Given the description of an element on the screen output the (x, y) to click on. 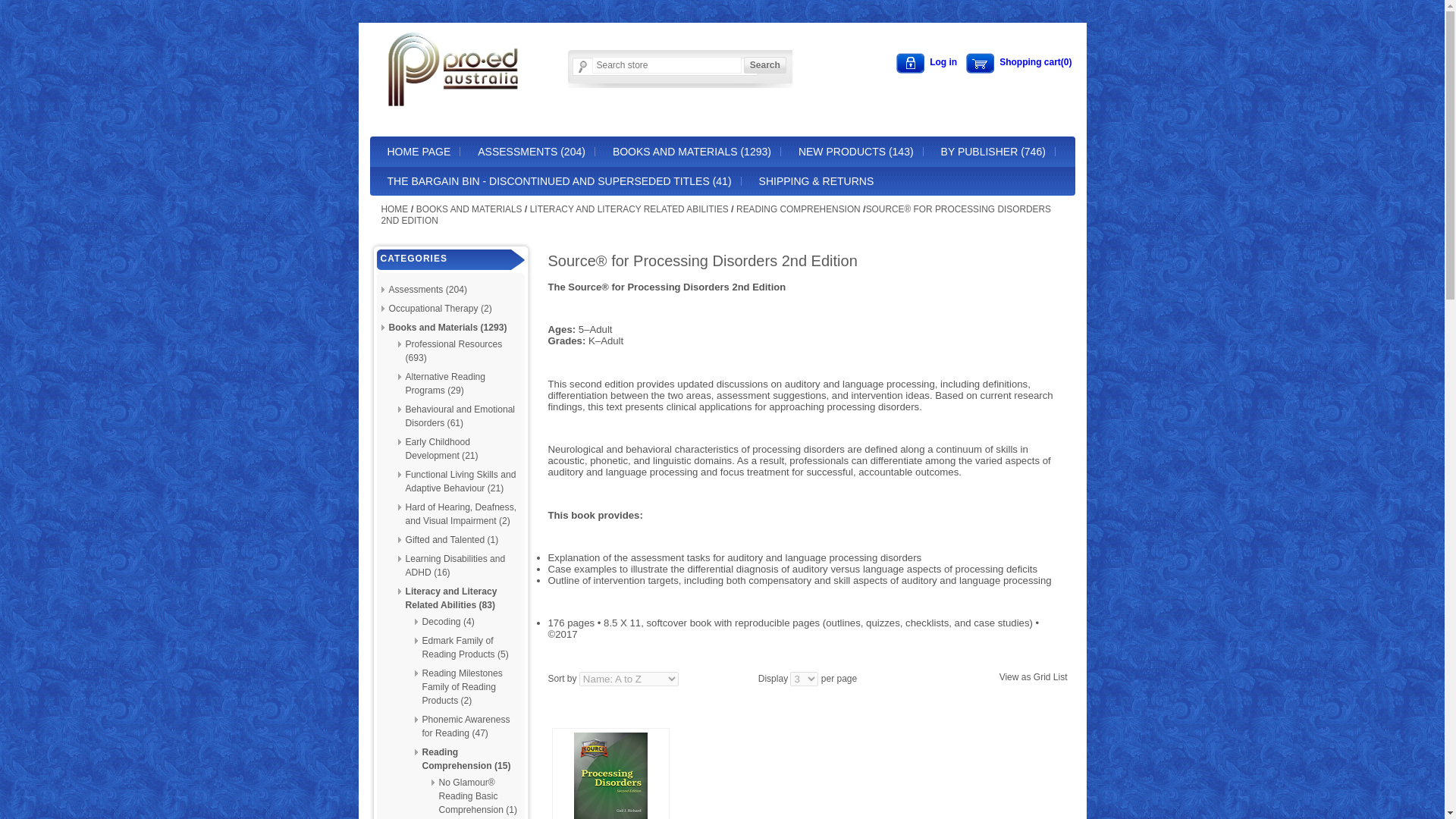
Log in (926, 64)
HOME PAGE (419, 151)
Reading Comprehension (798, 208)
Search (765, 64)
Search (765, 64)
Books and Materials (468, 208)
Home (393, 208)
Literacy and Literacy Related Abilities (628, 208)
Search (765, 64)
Grid (1042, 676)
List (1059, 676)
